Given the description of an element on the screen output the (x, y) to click on. 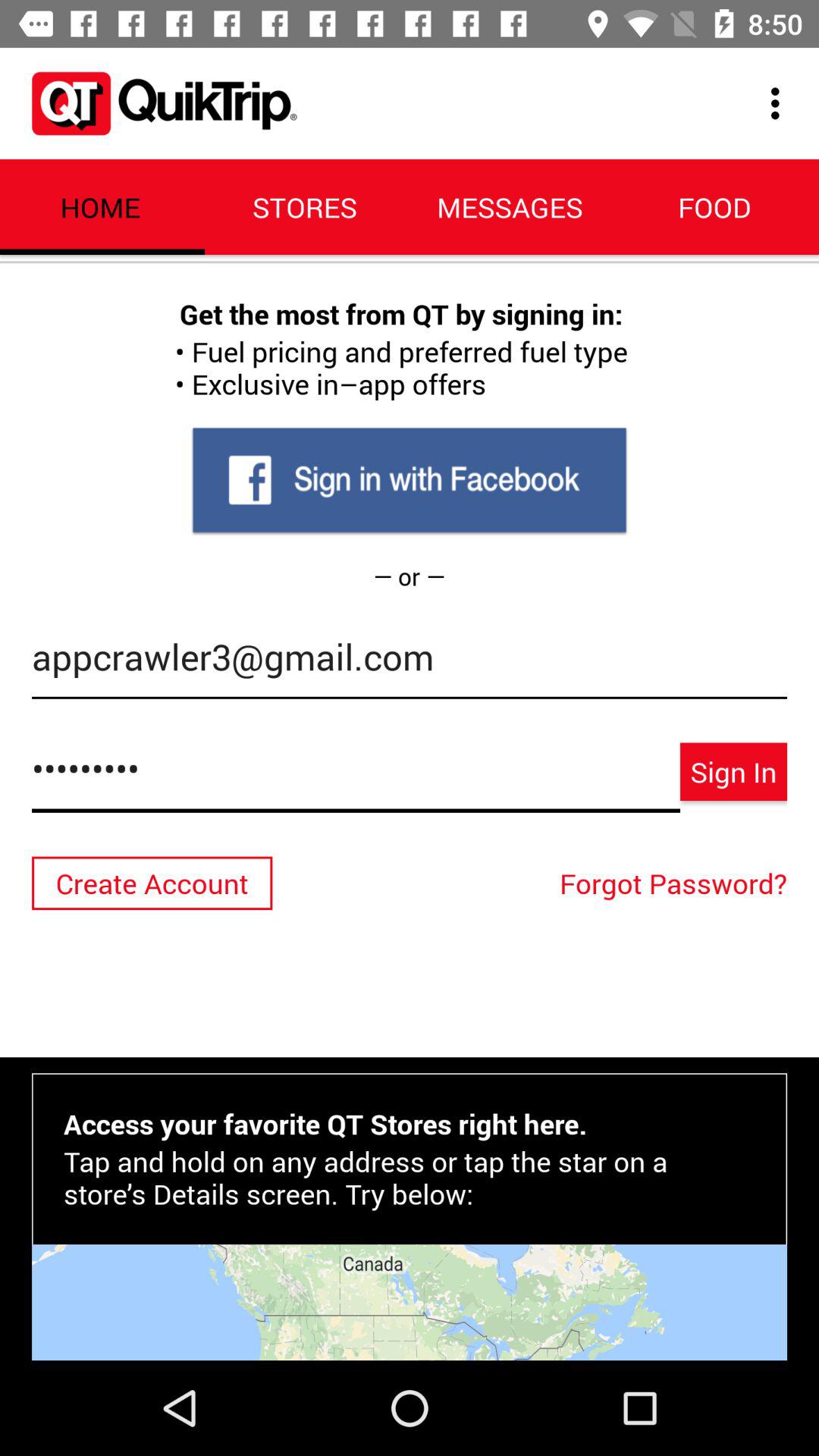
turn on icon above access your favorite (677, 883)
